Given the description of an element on the screen output the (x, y) to click on. 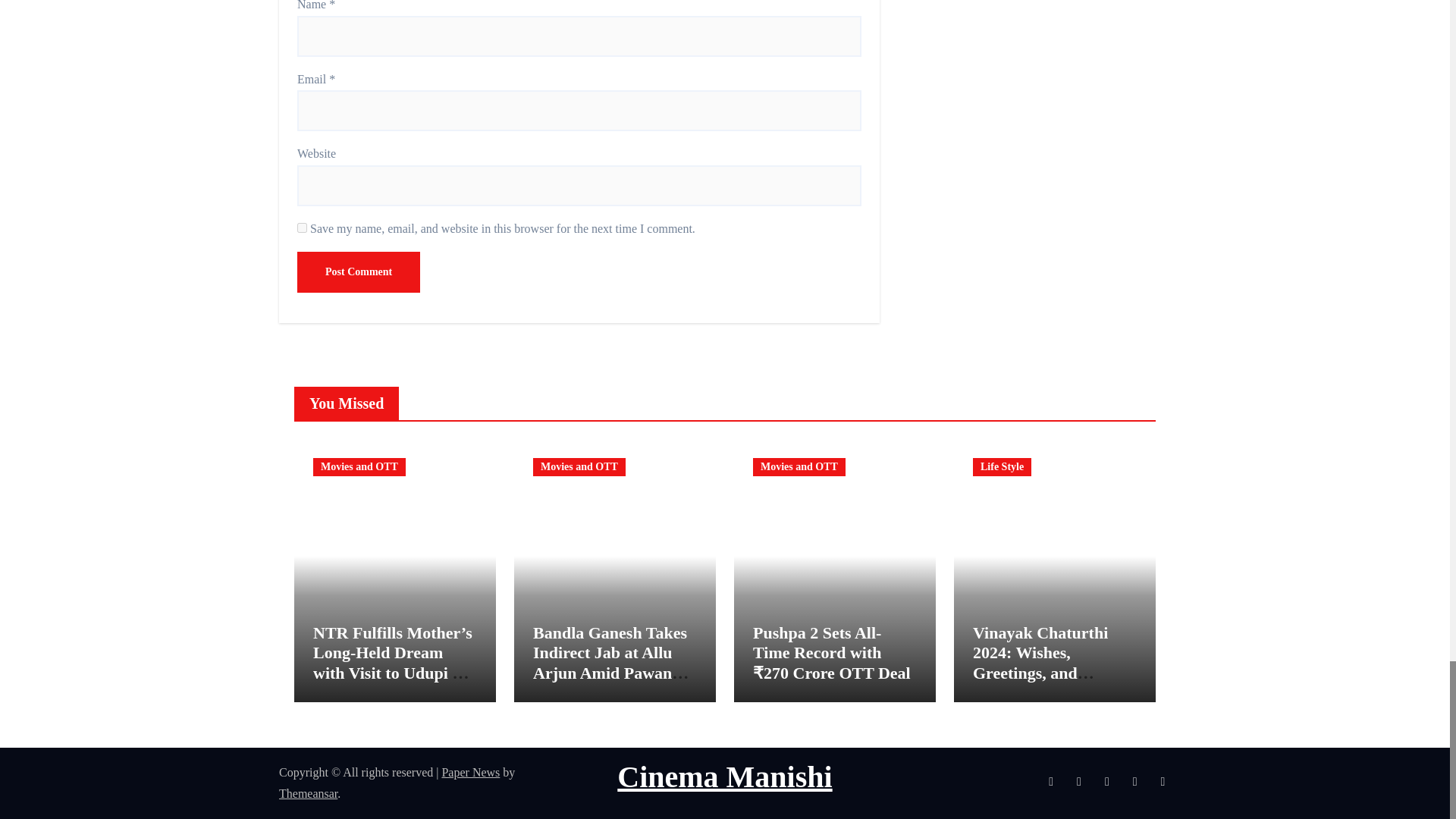
yes (302, 227)
Post Comment (358, 271)
